Given the description of an element on the screen output the (x, y) to click on. 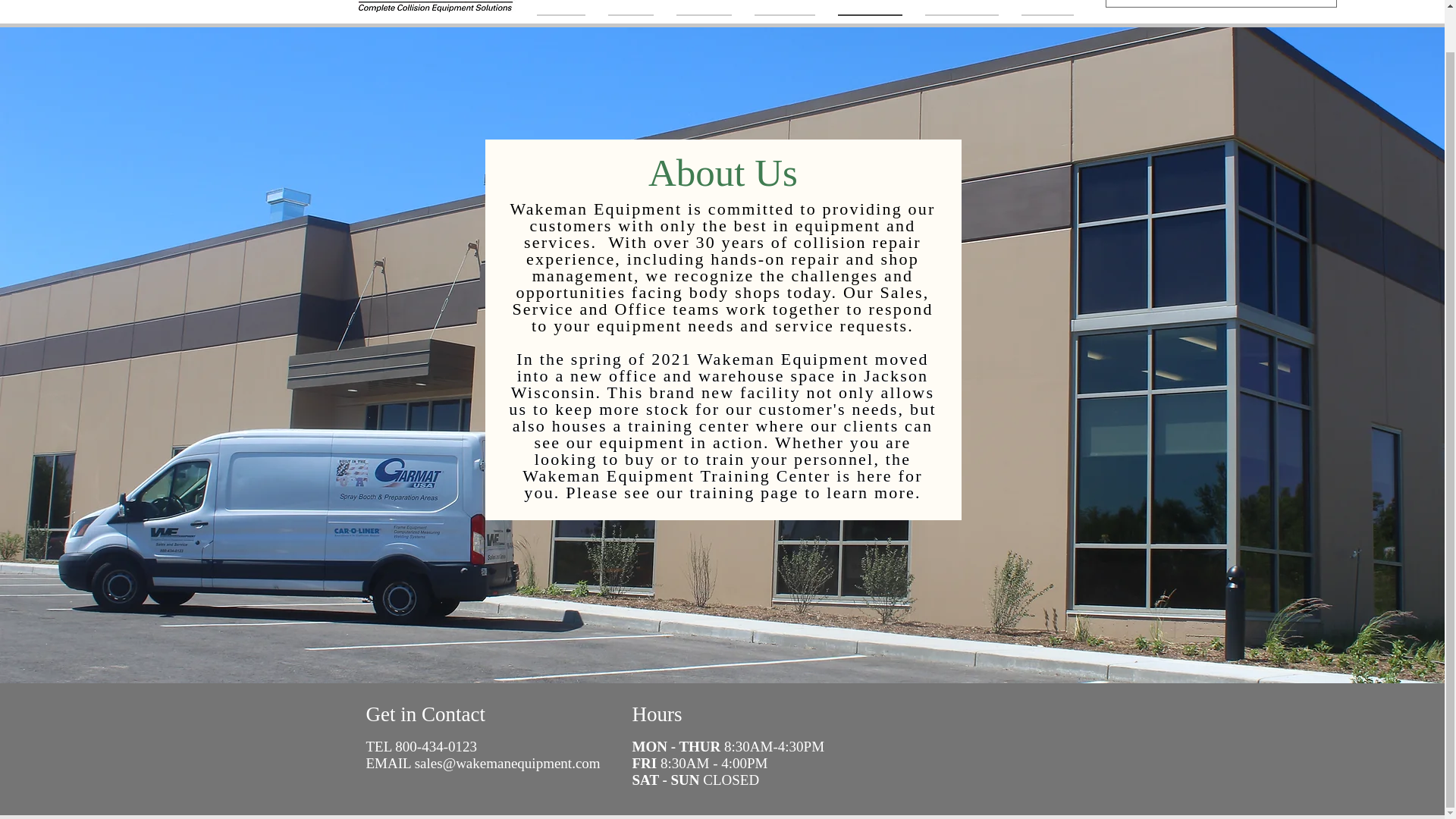
Service (702, 7)
About Us (870, 7)
Home (566, 7)
Sales (629, 7)
Contact Us (960, 7)
